Given the description of an element on the screen output the (x, y) to click on. 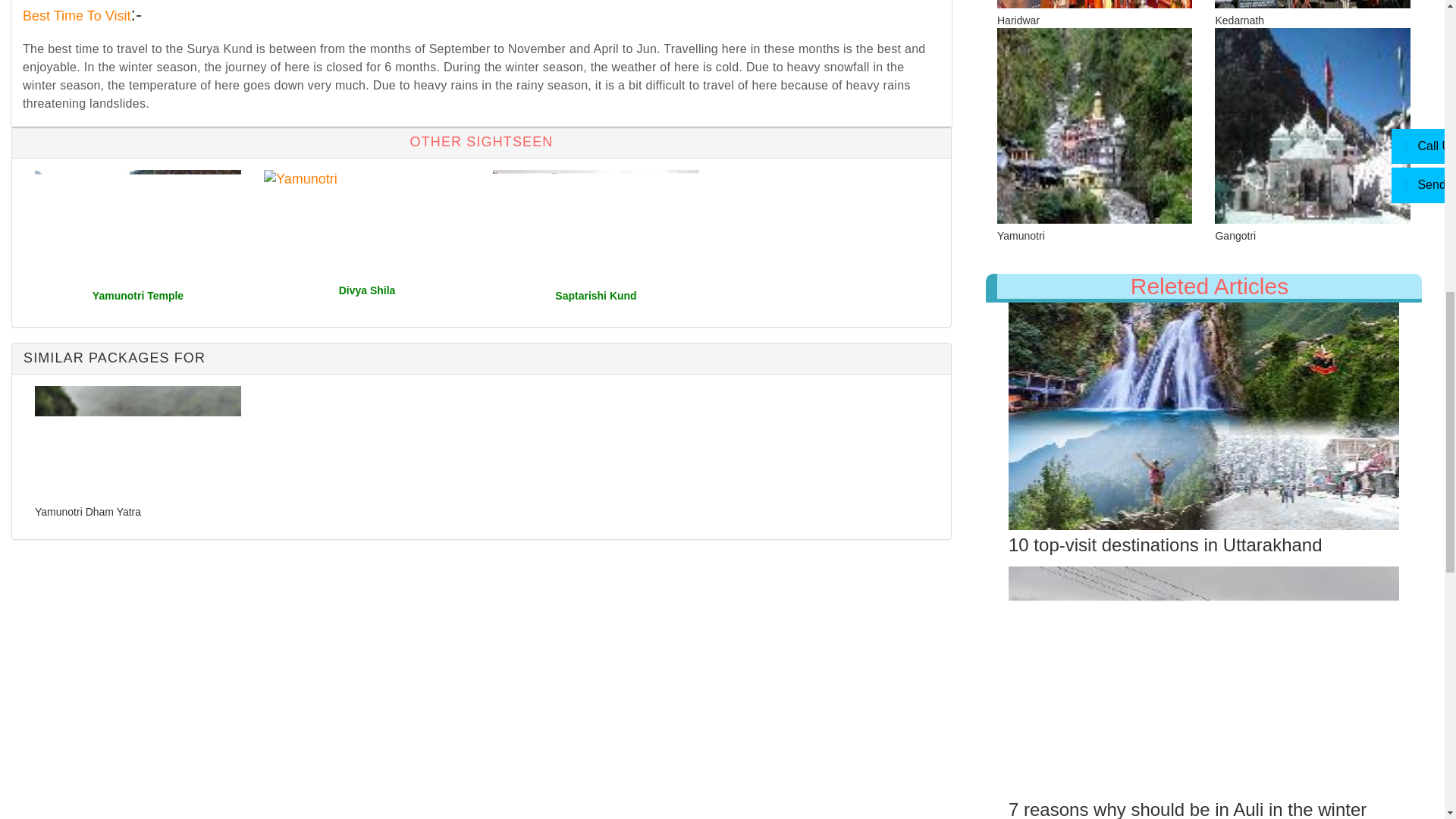
Best Time To Visit (77, 15)
